Given the description of an element on the screen output the (x, y) to click on. 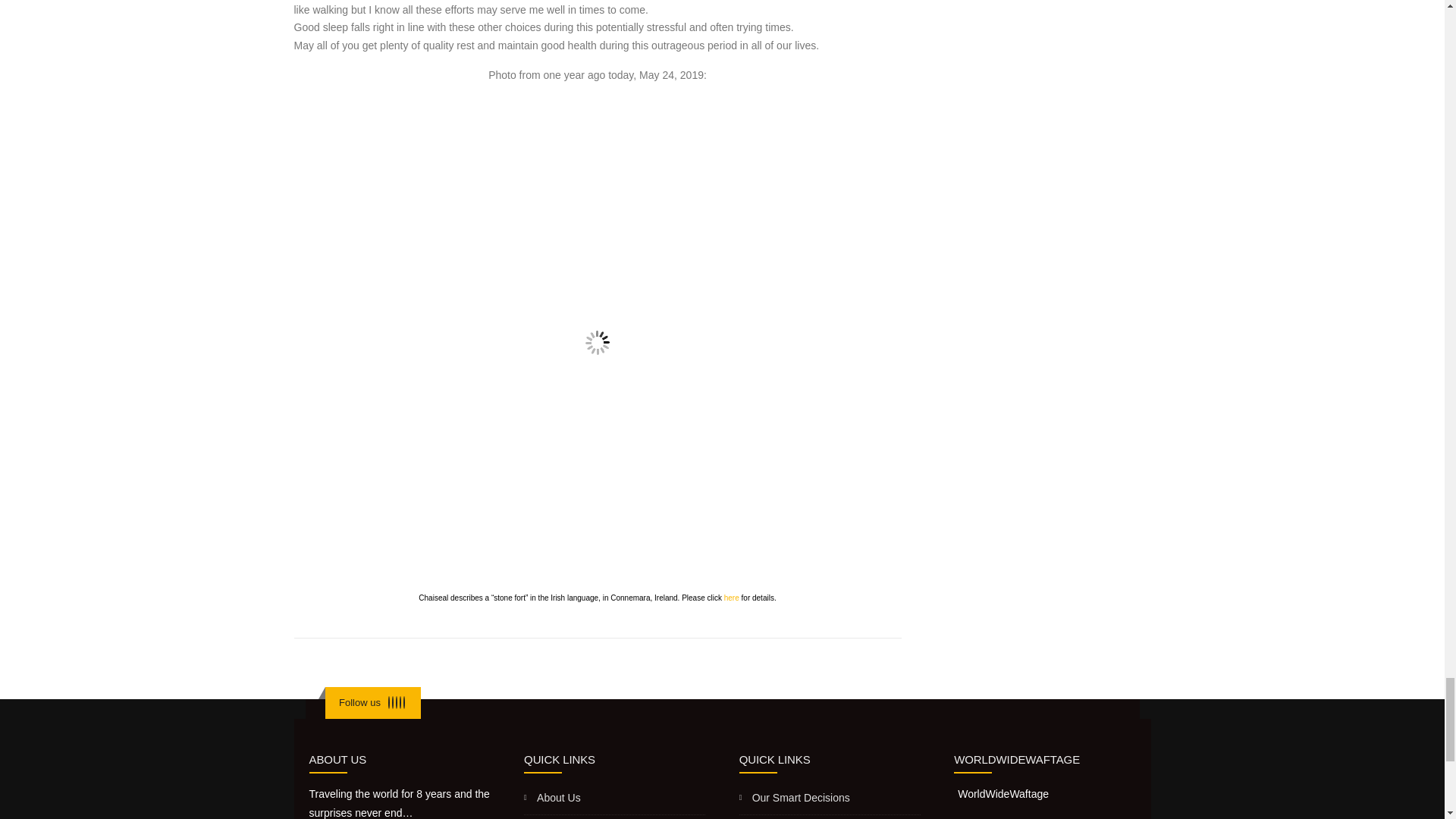
here (731, 597)
